Given the description of an element on the screen output the (x, y) to click on. 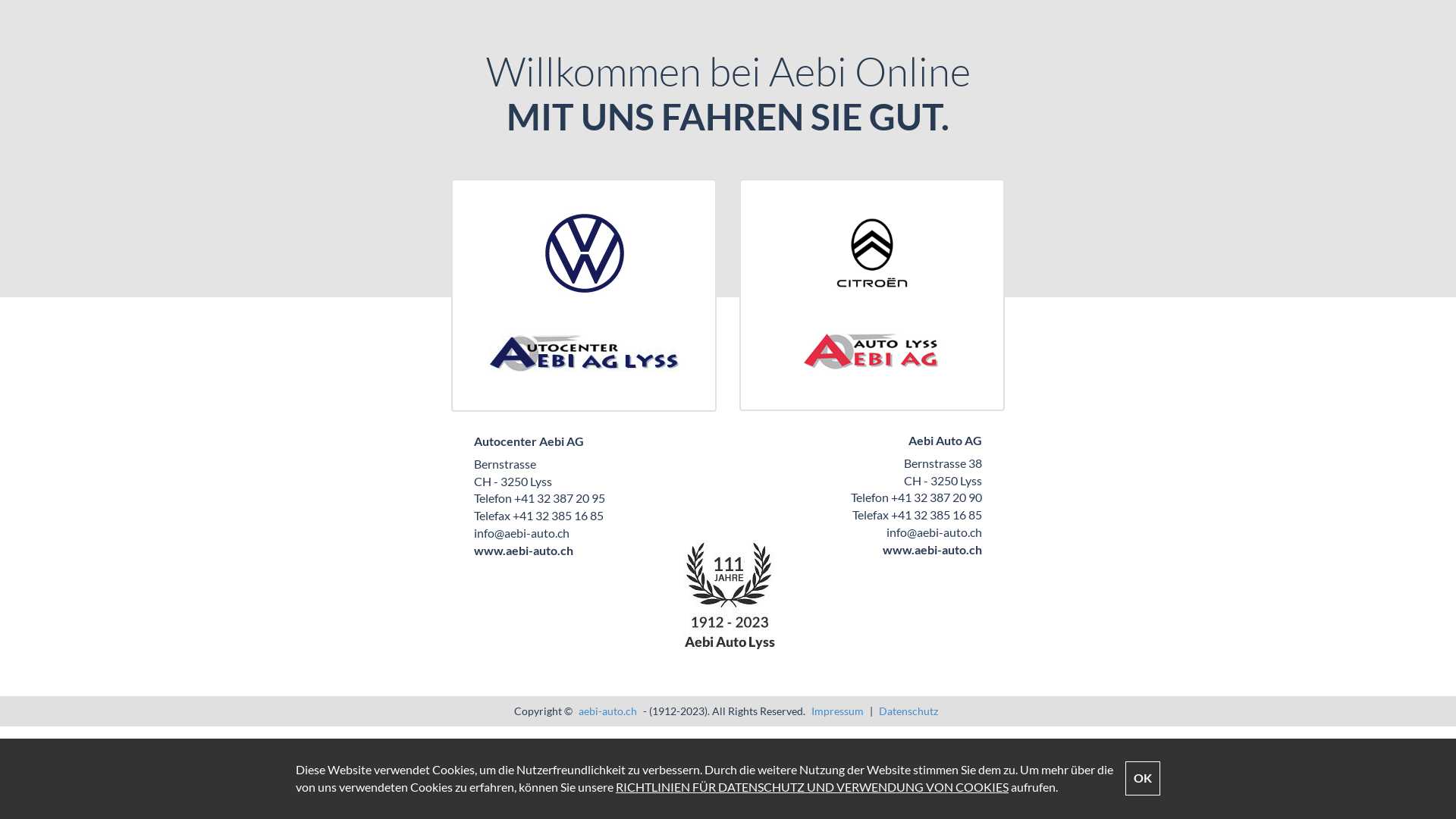
aebi-auto.ch Element type: text (607, 710)
OK Element type: text (1142, 778)
info@aebi-auto.ch Element type: text (934, 531)
+41 32 385 16 85 Element type: text (936, 514)
+41 32 387 20 95 Element type: text (559, 497)
www.aebi-auto.ch Element type: text (523, 549)
Datenschutz Element type: text (908, 710)
+41 32 385 16 85 Element type: text (557, 515)
+41 32 387 20 90 Element type: text (936, 496)
www.aebi-auto.ch Element type: text (932, 549)
info@aebi-auto.ch Element type: text (521, 532)
Impressum Element type: text (837, 710)
